Given the description of an element on the screen output the (x, y) to click on. 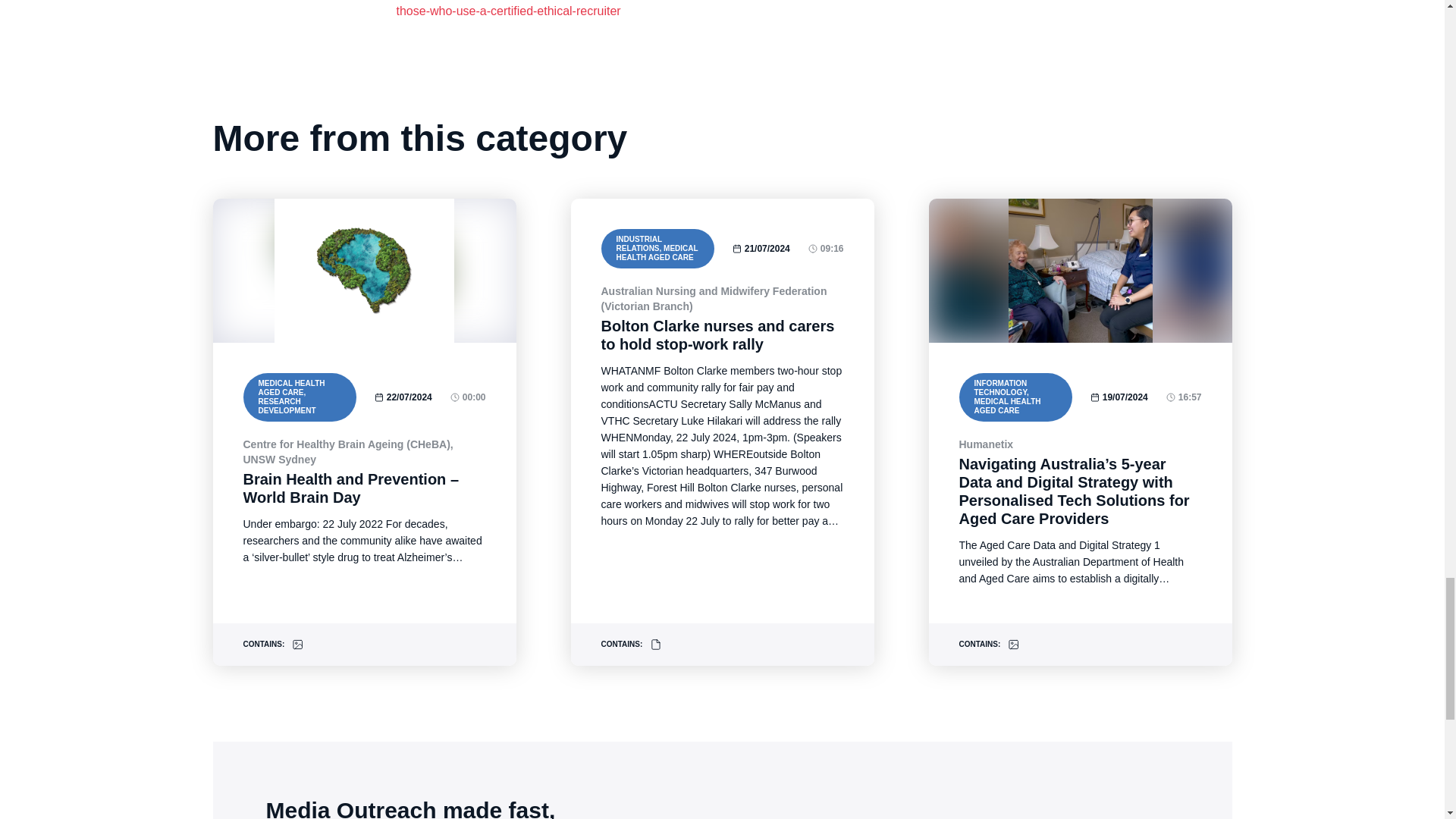
Images (1013, 644)
Images (298, 644)
Attachments (655, 644)
